Given the description of an element on the screen output the (x, y) to click on. 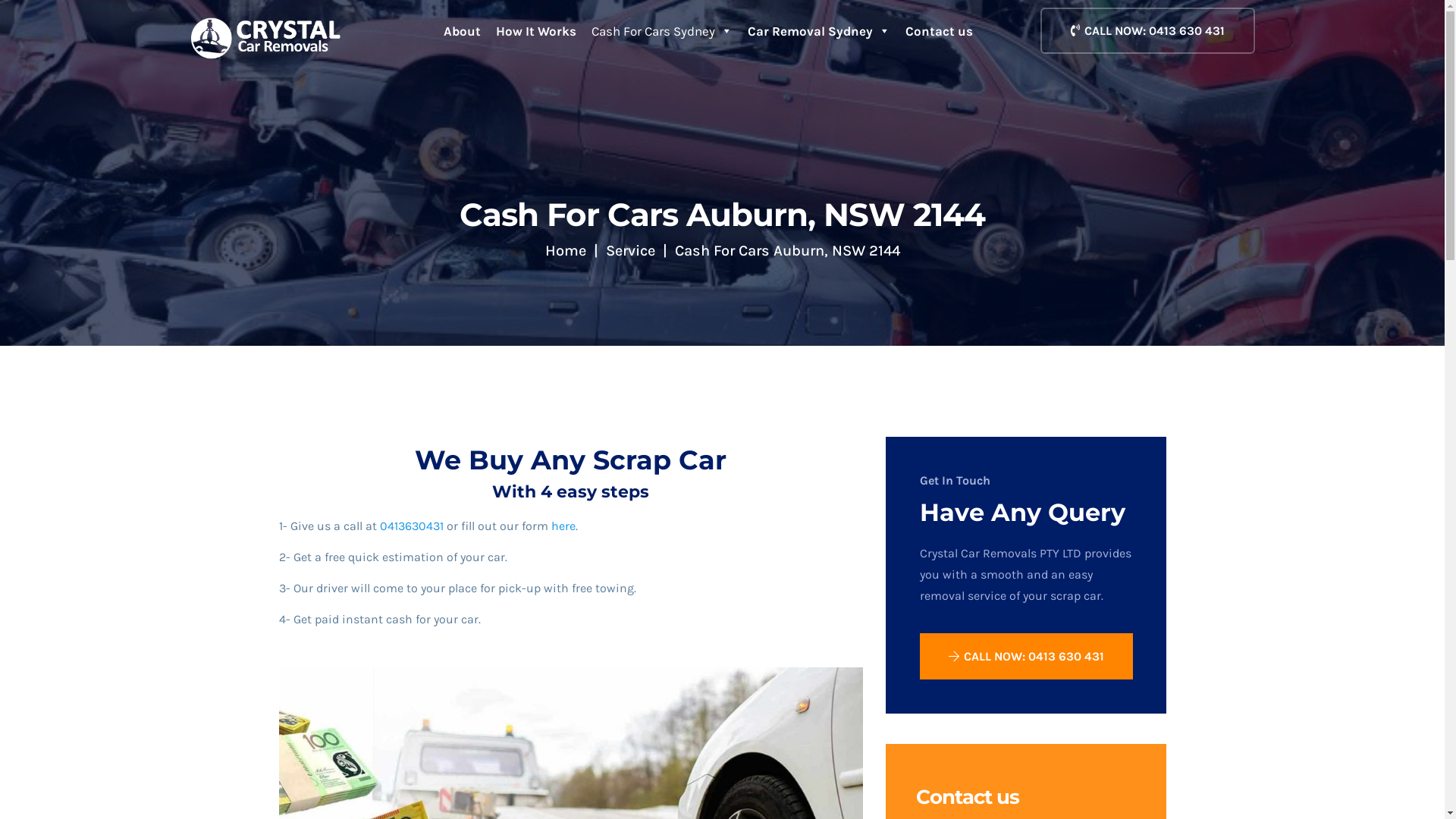
0413630431 Element type: text (410, 525)
CALL NOW: 0413 630 431 Element type: text (1025, 656)
About Element type: text (462, 30)
Car Removal Sydney Element type: text (818, 30)
Contact us Element type: text (938, 30)
Cash For Cars Sydney Element type: text (661, 30)
Home Element type: text (564, 250)
Service Element type: text (629, 250)
here Element type: text (562, 525)
CALL NOW: 0413 630 431 Element type: text (1147, 30)
How It Works Element type: text (535, 30)
